Given the description of an element on the screen output the (x, y) to click on. 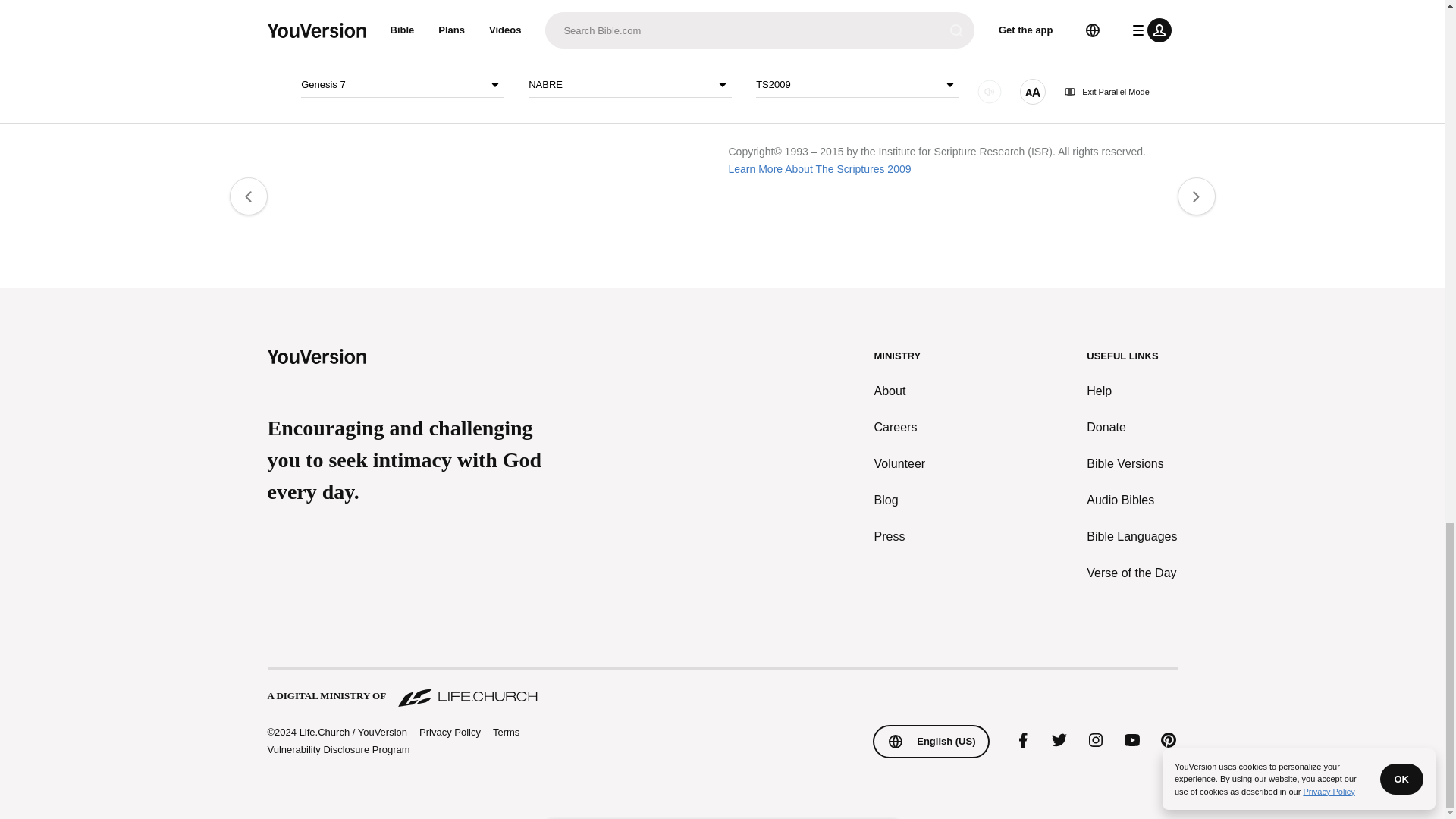
A DIGITAL MINISTRY OF (721, 688)
Vulnerability Disclosure Program (337, 749)
Audio Bibles (1131, 500)
Help (1131, 391)
Verse of the Day (1131, 573)
Bible Languages (1131, 536)
Terms (506, 731)
Careers (900, 427)
Privacy Policy (449, 732)
Donate (1131, 427)
Learn More About New American Bible, revised edition (395, 8)
Learn More About The Scriptures 2009 (819, 168)
About (900, 391)
Bible Versions (1131, 464)
Volunteer (900, 464)
